Given the description of an element on the screen output the (x, y) to click on. 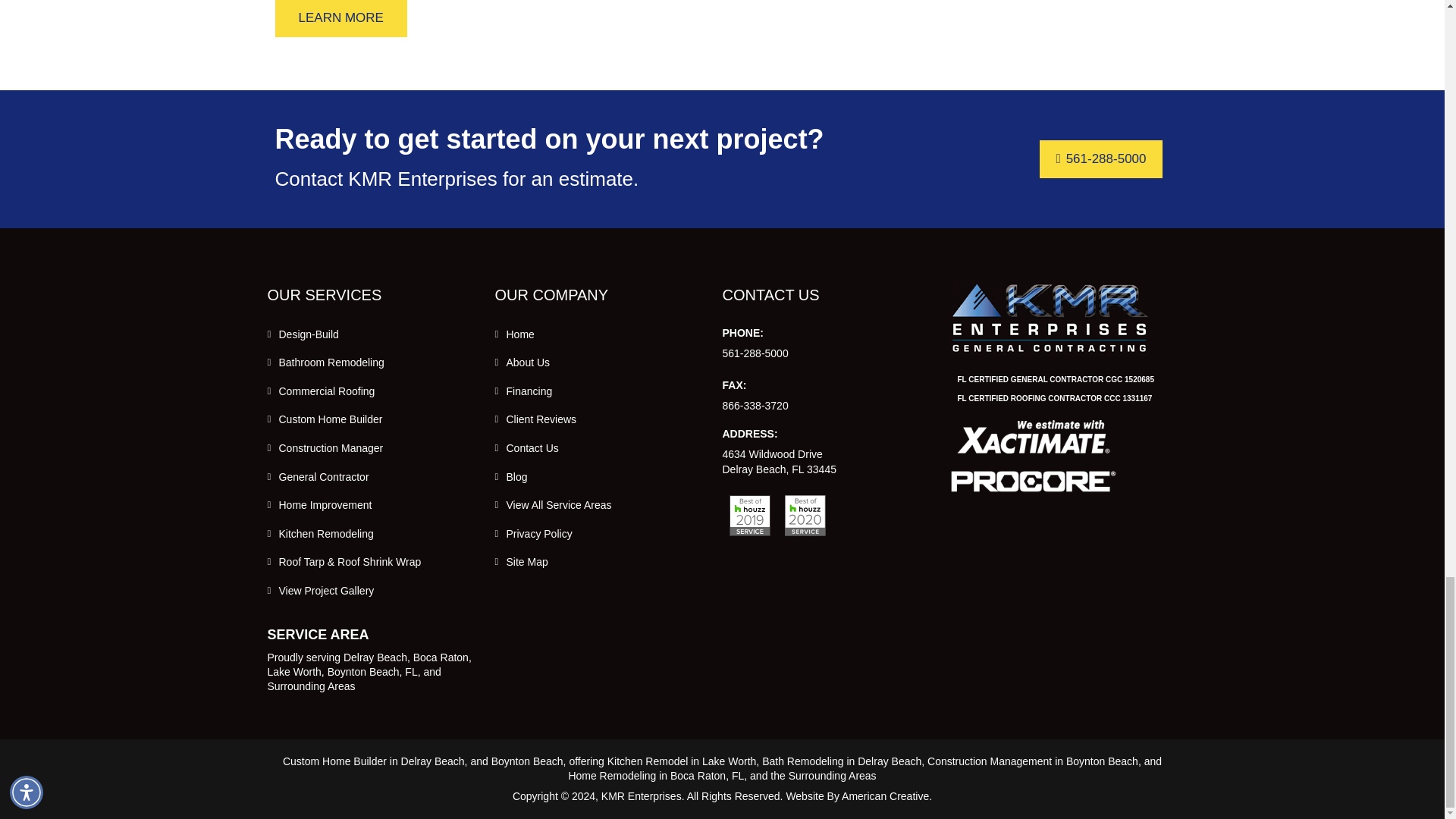
561-288-5000 (1100, 159)
Custom Home Builder (330, 419)
Bathroom Remodeling (331, 362)
View Project Gallery (326, 590)
Lake Worth (293, 671)
LEARN MORE (340, 18)
Kitchen Remodeling (326, 533)
Construction Manager (331, 448)
Home Improvement (325, 504)
General Contractor (324, 476)
Boca Raton (440, 657)
Commercial Roofing (327, 390)
Delray Beach (375, 657)
Design-Build (309, 334)
